Given the description of an element on the screen output the (x, y) to click on. 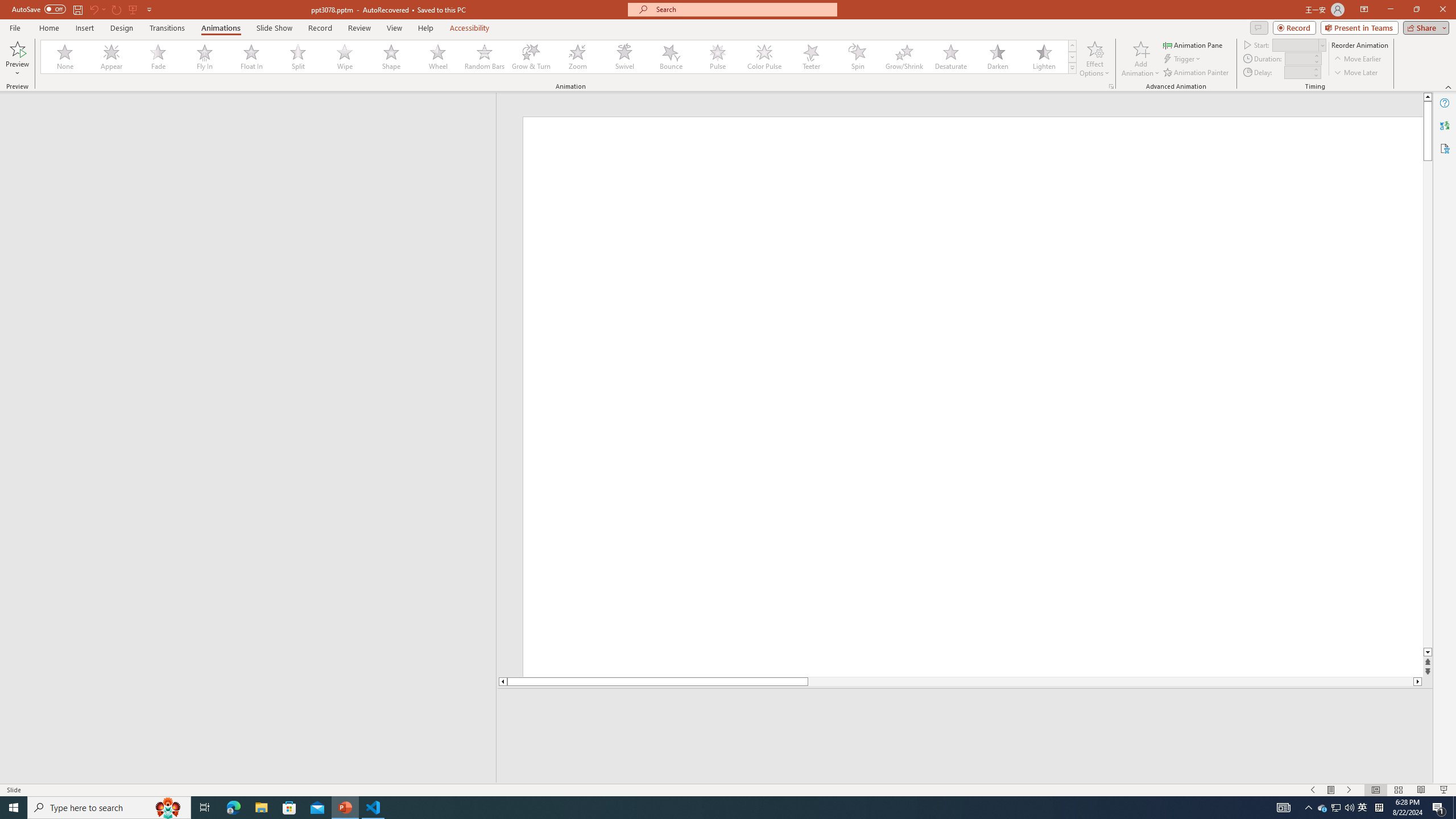
Animation Delay (1297, 72)
More Options... (1110, 85)
Move Later (1355, 72)
Move Earlier (1357, 58)
Desaturate (950, 56)
